Given the description of an element on the screen output the (x, y) to click on. 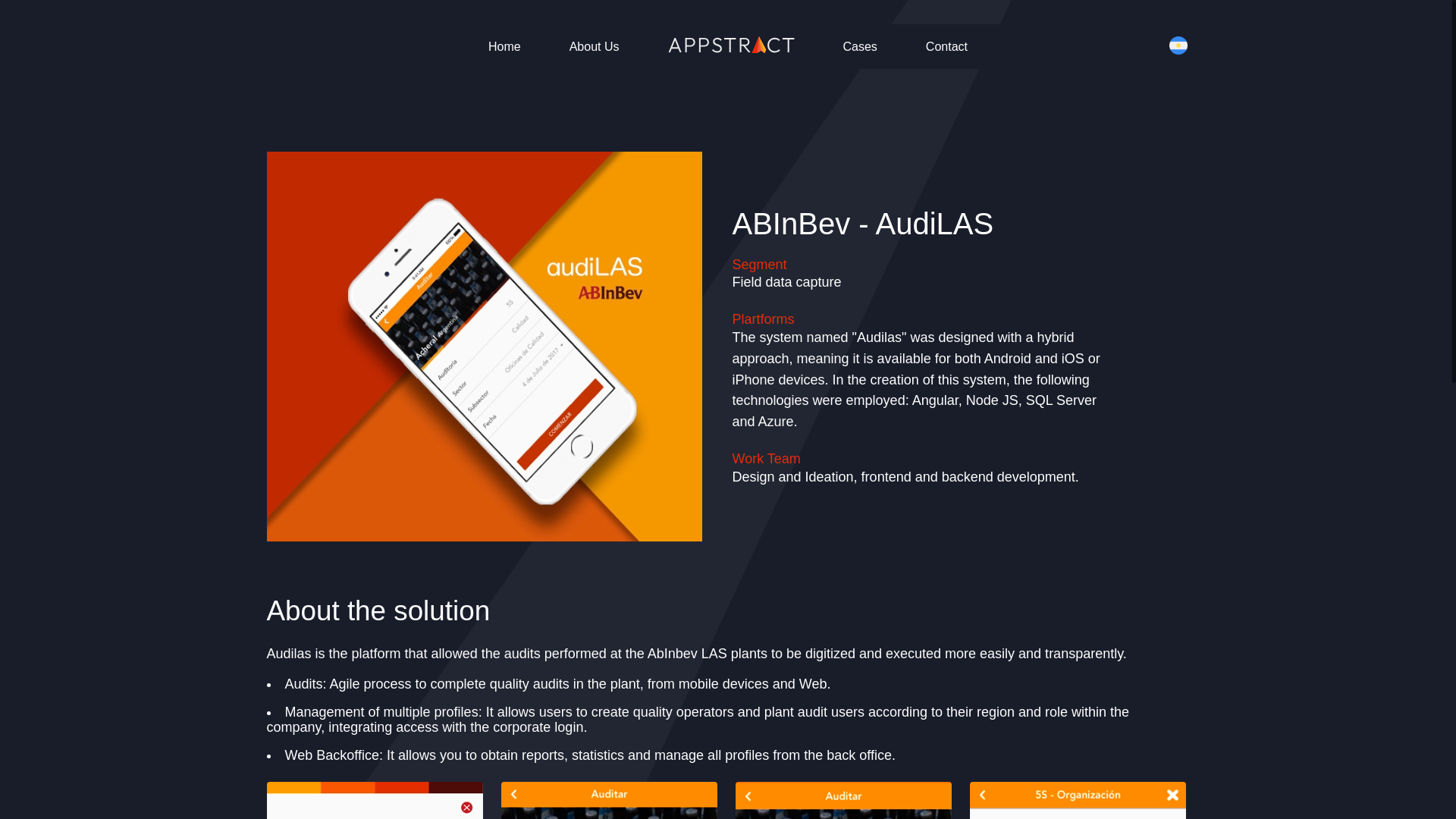
Home (504, 45)
Cases (860, 45)
Contact (947, 45)
About Us (594, 45)
